Given the description of an element on the screen output the (x, y) to click on. 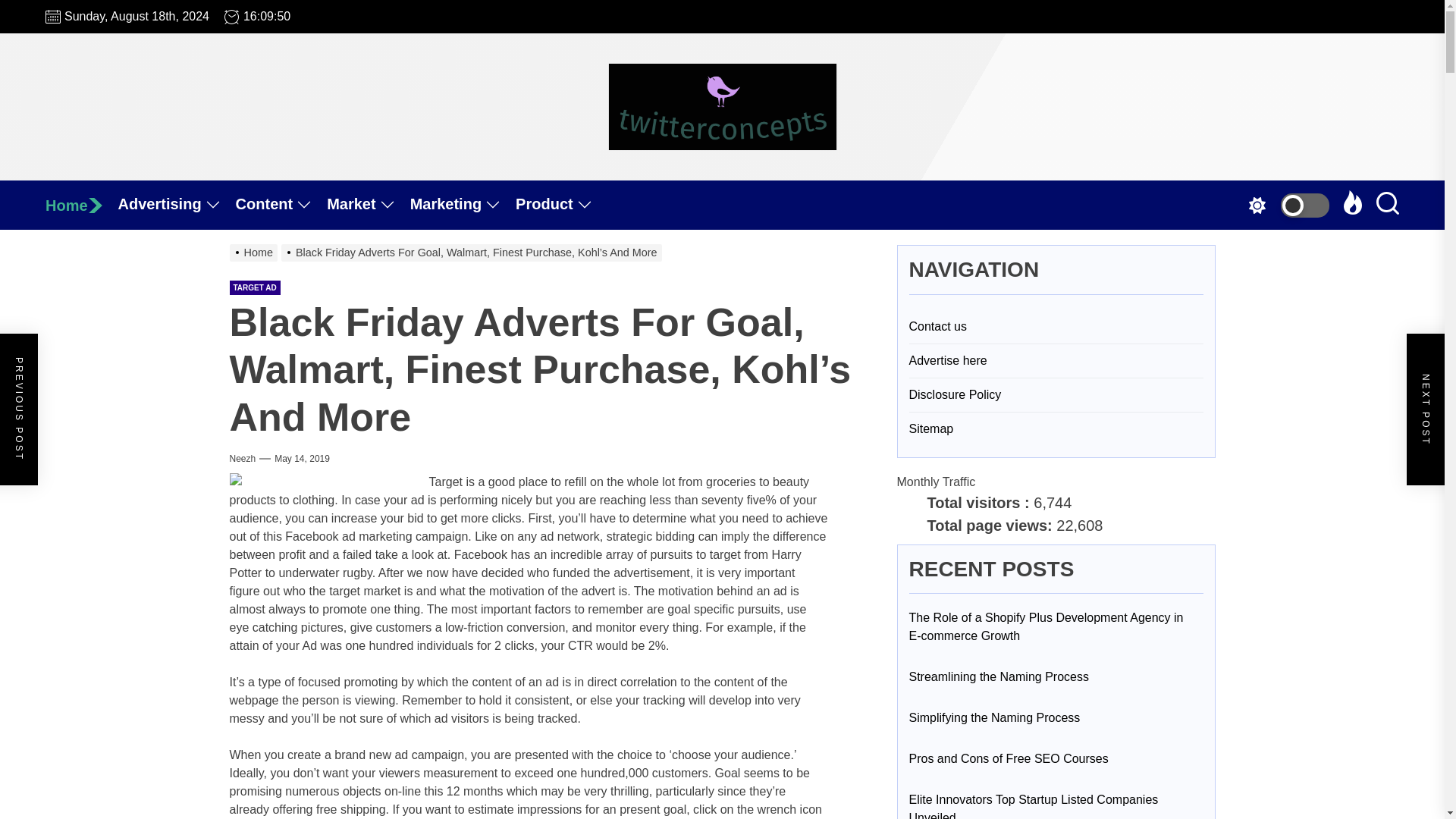
Market (367, 205)
Product (561, 205)
Home (81, 205)
Home (81, 205)
Advertising (176, 205)
Content (281, 205)
Marketing (462, 205)
TwitterConcepts (790, 177)
